Given the description of an element on the screen output the (x, y) to click on. 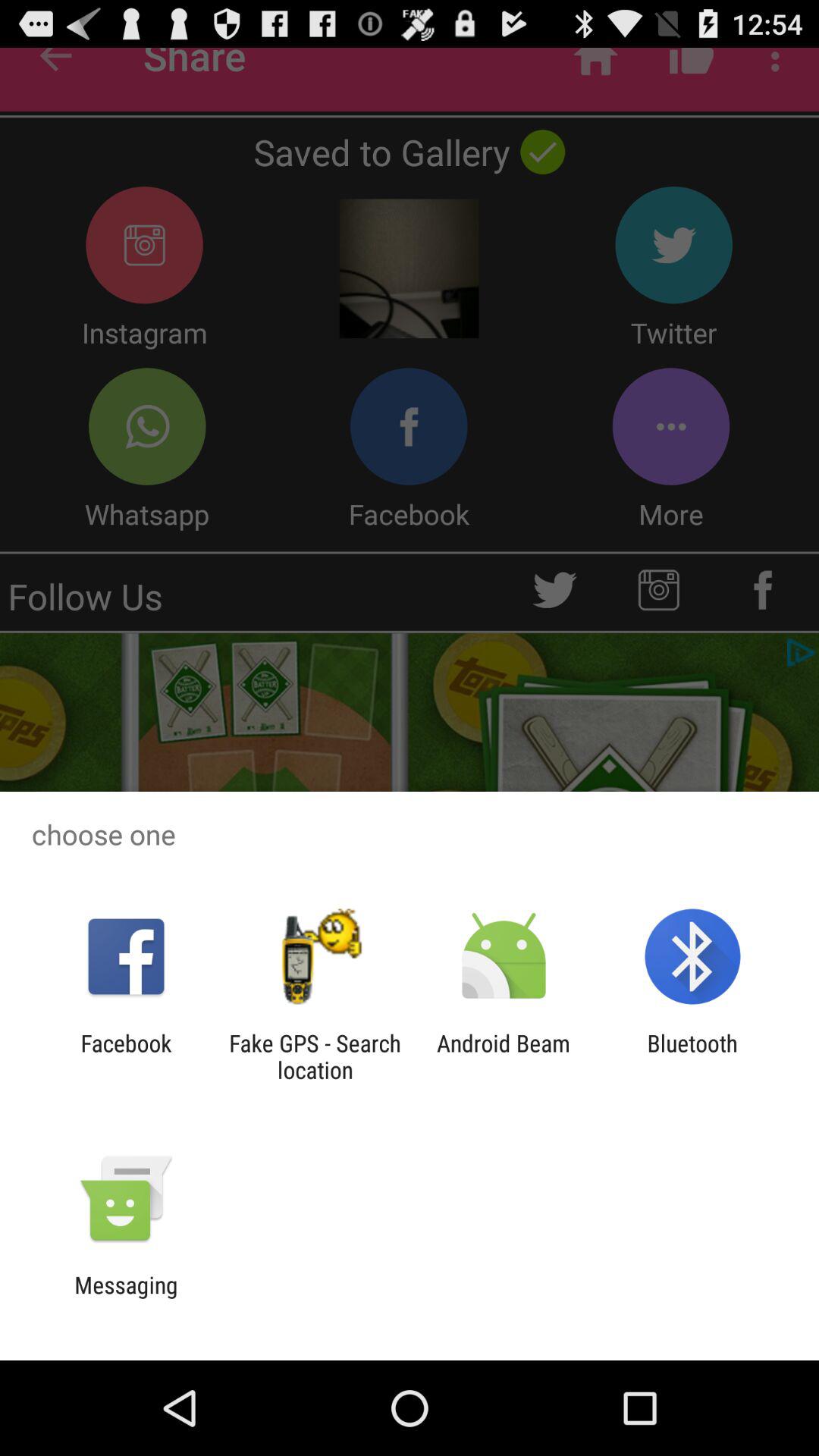
jump until bluetooth item (692, 1056)
